Given the description of an element on the screen output the (x, y) to click on. 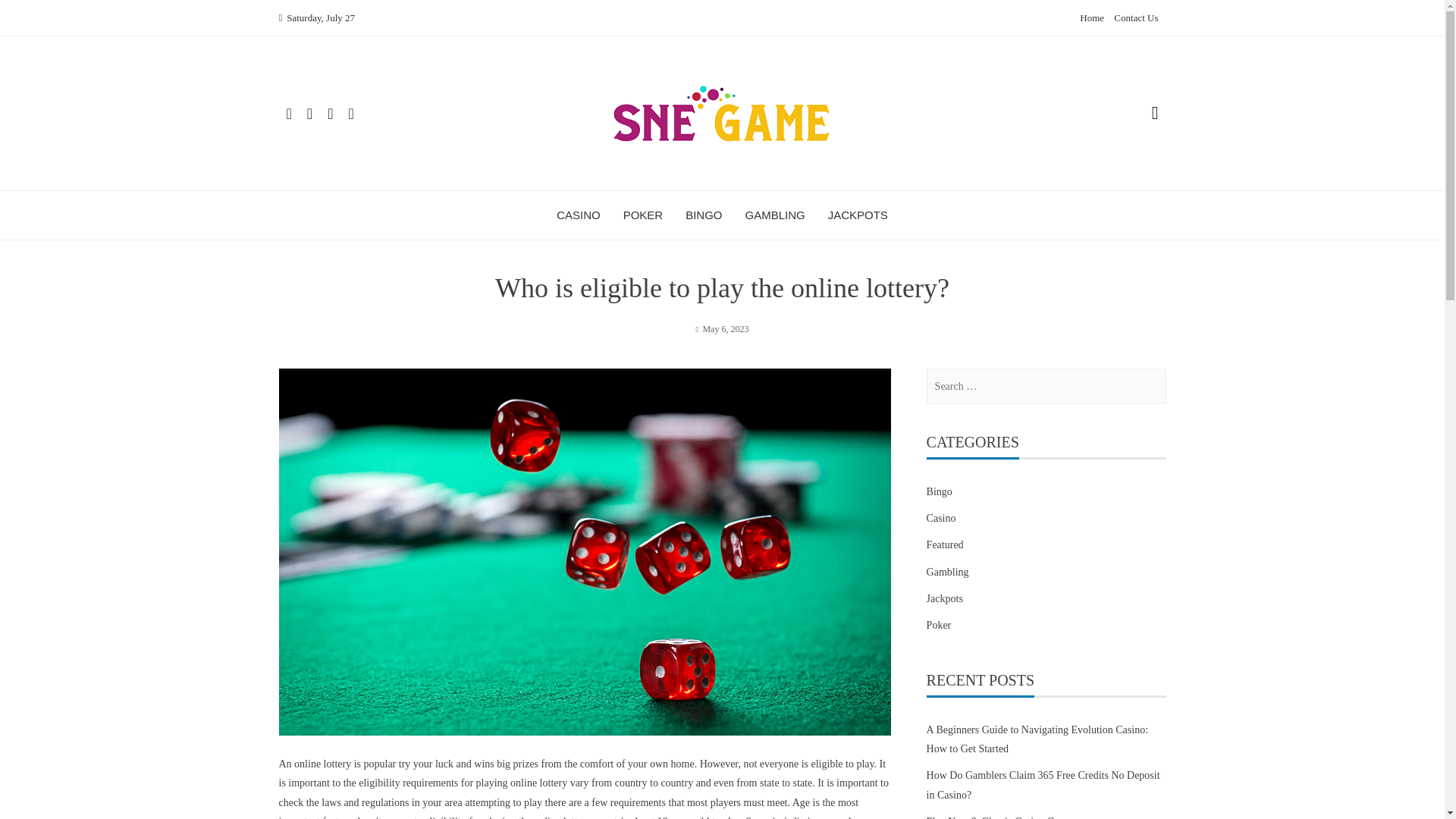
Jackpots (944, 598)
How Do Gamblers Claim 365 Free Credits No Deposit in Casino? (1043, 784)
Casino (941, 517)
GAMBLING (774, 215)
Search (29, 17)
BINGO (703, 215)
JACKPOTS (858, 215)
Poker (939, 624)
CASINO (577, 215)
Featured (944, 544)
Home (1091, 17)
POKER (643, 215)
Gambling (947, 571)
Bingo (939, 491)
